Given the description of an element on the screen output the (x, y) to click on. 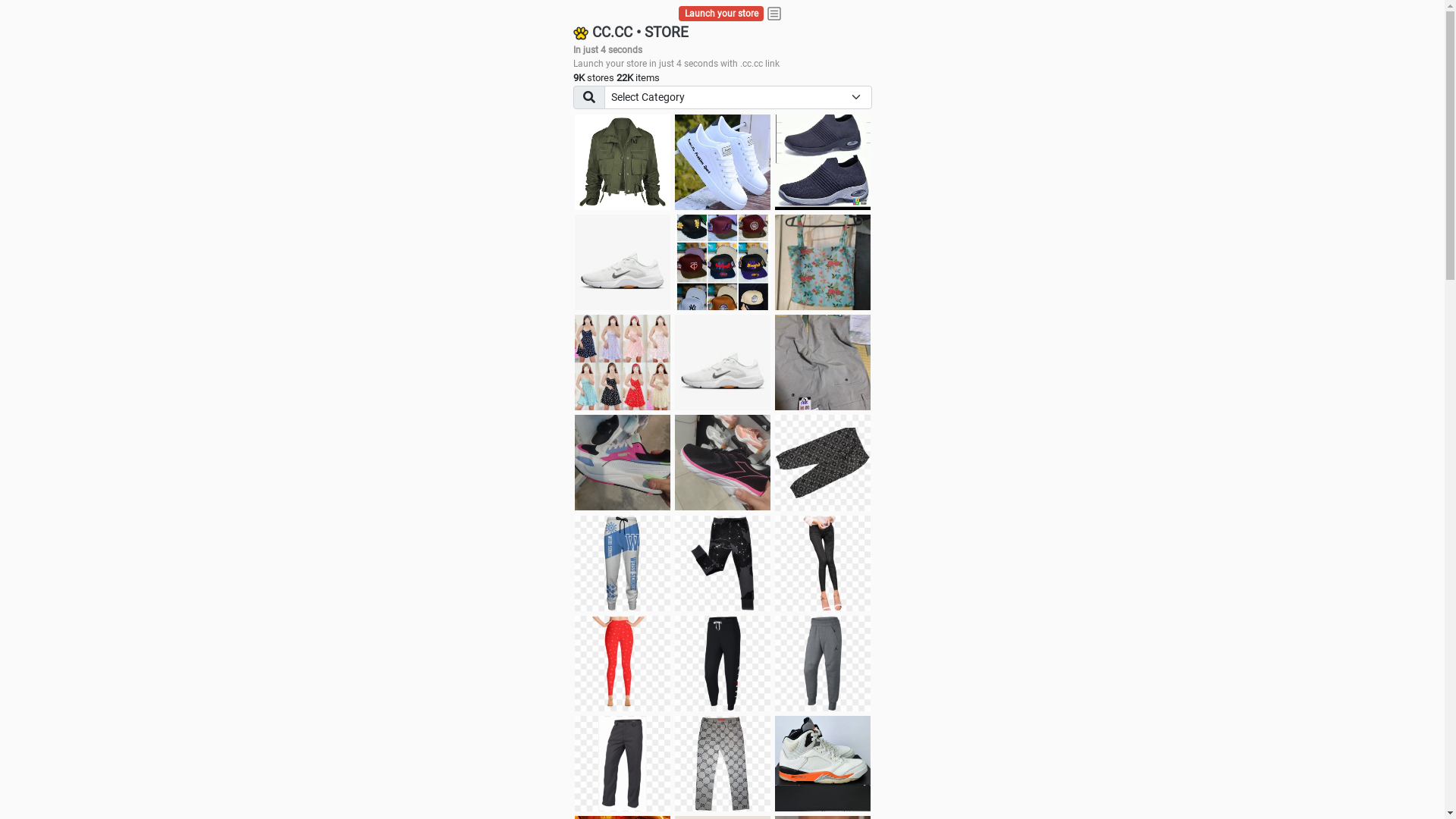
Launch your store Element type: text (721, 13)
Pant Element type: hover (622, 663)
Zapatillas Element type: hover (722, 462)
Pant Element type: hover (822, 563)
white shoes Element type: hover (722, 162)
Zapatillas pumas Element type: hover (622, 462)
Pant Element type: hover (622, 763)
shoes for boys Element type: hover (822, 162)
Dress/square nect top Element type: hover (622, 362)
Shoe Element type: hover (822, 763)
jacket Element type: hover (622, 162)
Pant Element type: hover (822, 663)
Ukay cloth Element type: hover (822, 262)
Things we need Element type: hover (722, 262)
Shoes for boys Element type: hover (622, 262)
Pant Element type: hover (622, 563)
Pant Element type: hover (722, 663)
Pant Element type: hover (722, 563)
Pant Element type: hover (722, 763)
Short pant Element type: hover (822, 462)
Shoes Element type: hover (722, 362)
